Given the description of an element on the screen output the (x, y) to click on. 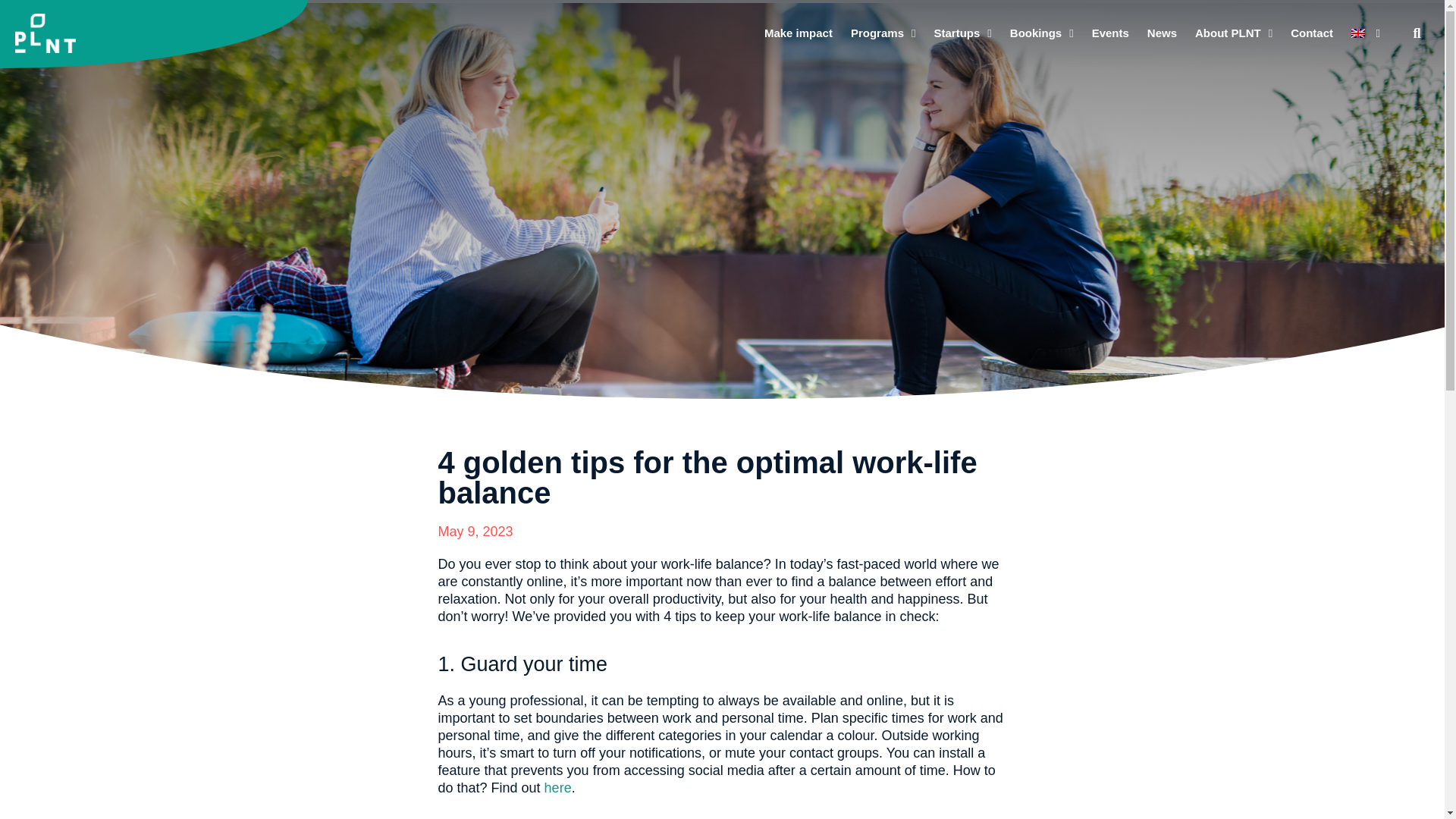
Bookings (1042, 32)
Startups (962, 32)
Events (1110, 32)
Contact (1311, 32)
Make impact (798, 32)
Programs (882, 32)
About PLNT (1233, 32)
News (1162, 32)
